Given the description of an element on the screen output the (x, y) to click on. 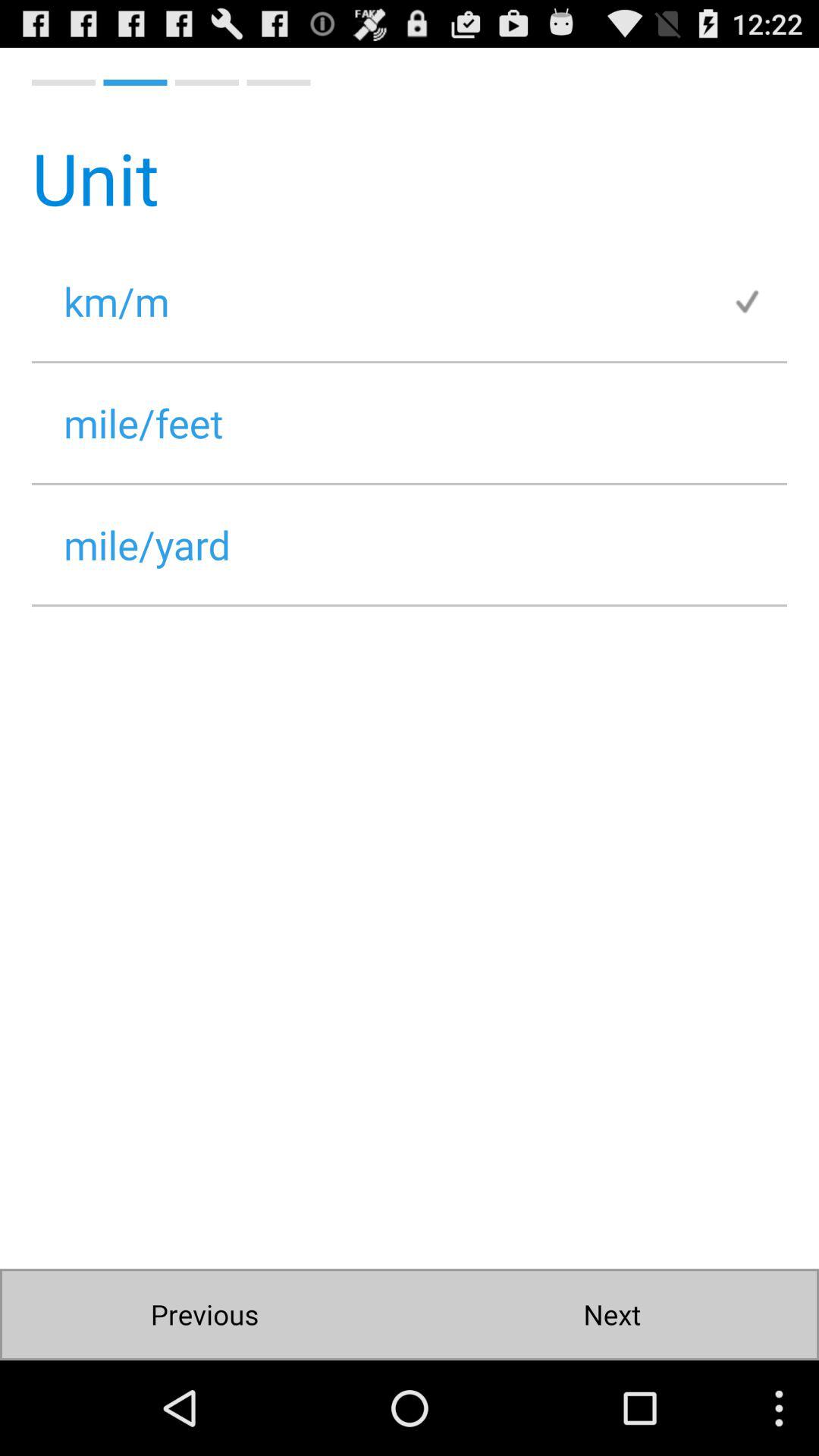
jump to the next icon (611, 1314)
